Given the description of an element on the screen output the (x, y) to click on. 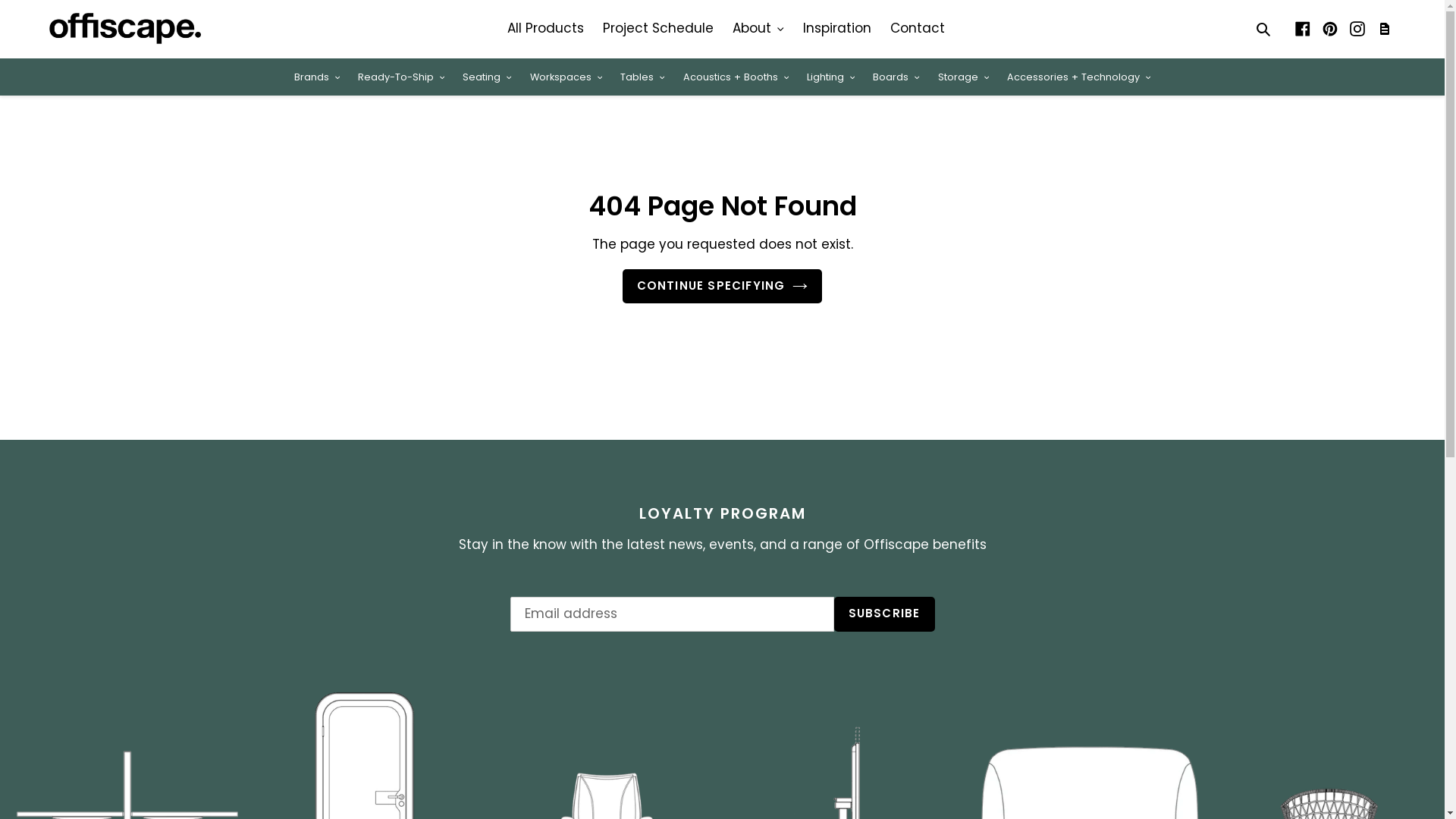
Pinterest Element type: text (1329, 28)
Workspaces Element type: text (566, 75)
Facebook Element type: text (1302, 28)
Brands Element type: text (316, 75)
SUBSCRIBE Element type: text (884, 613)
Accessories + Technology Element type: text (1078, 75)
Lighting Element type: text (830, 75)
Ready-To-Ship Element type: text (400, 75)
All Products Element type: text (545, 28)
Accessories + Technology Element type: text (1078, 75)
CONTINUE SPECIFYING Element type: text (722, 286)
Boards Element type: text (895, 75)
Storage Element type: text (963, 75)
Seating Element type: text (486, 75)
Instagram Element type: text (1357, 28)
Inspiration Element type: text (836, 28)
Storage Element type: text (963, 75)
Contact Element type: text (917, 28)
Lighting Element type: text (830, 75)
Search Element type: text (1264, 28)
Brands Element type: text (316, 75)
Seating Element type: text (486, 75)
Project Schedule Element type: text (1384, 27)
Tables Element type: text (642, 75)
Acoustics + Booths Element type: text (734, 75)
Ready-To-Ship Element type: text (400, 75)
Project Schedule Element type: text (658, 28)
Acoustics + Booths Element type: text (734, 75)
Boards Element type: text (895, 75)
Tables Element type: text (641, 75)
About Element type: text (757, 28)
Workspaces Element type: text (565, 75)
